Given the description of an element on the screen output the (x, y) to click on. 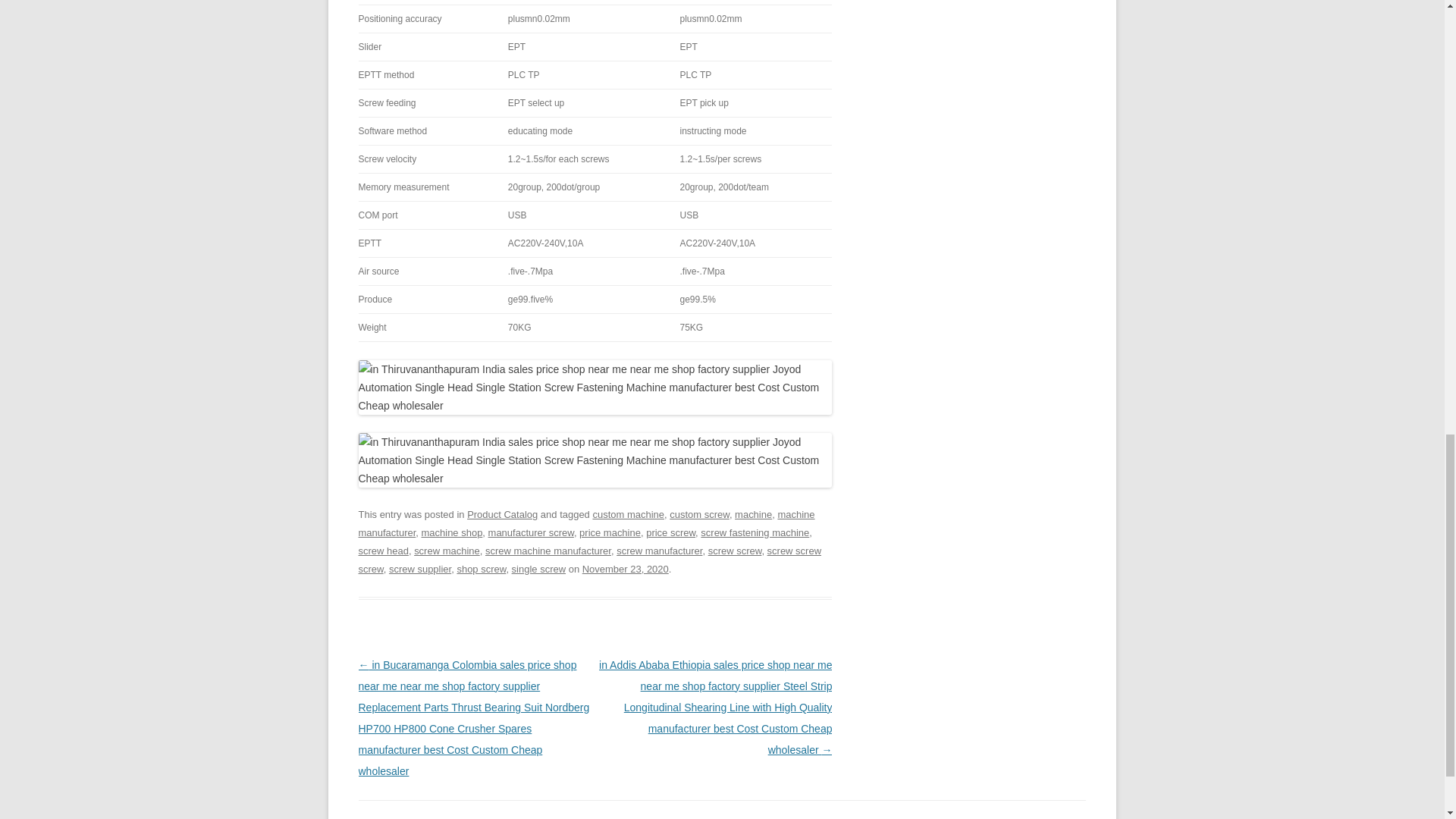
price machine (609, 532)
screw machine (446, 550)
screw screw screw (589, 559)
single screw (539, 568)
machine manufacturer (585, 523)
screw screw (734, 550)
screw fastening machine (754, 532)
machine (753, 514)
November 23, 2020 (625, 568)
custom machine (627, 514)
3:49 am (625, 568)
manufacturer screw (530, 532)
Product Catalog (502, 514)
